Given the description of an element on the screen output the (x, y) to click on. 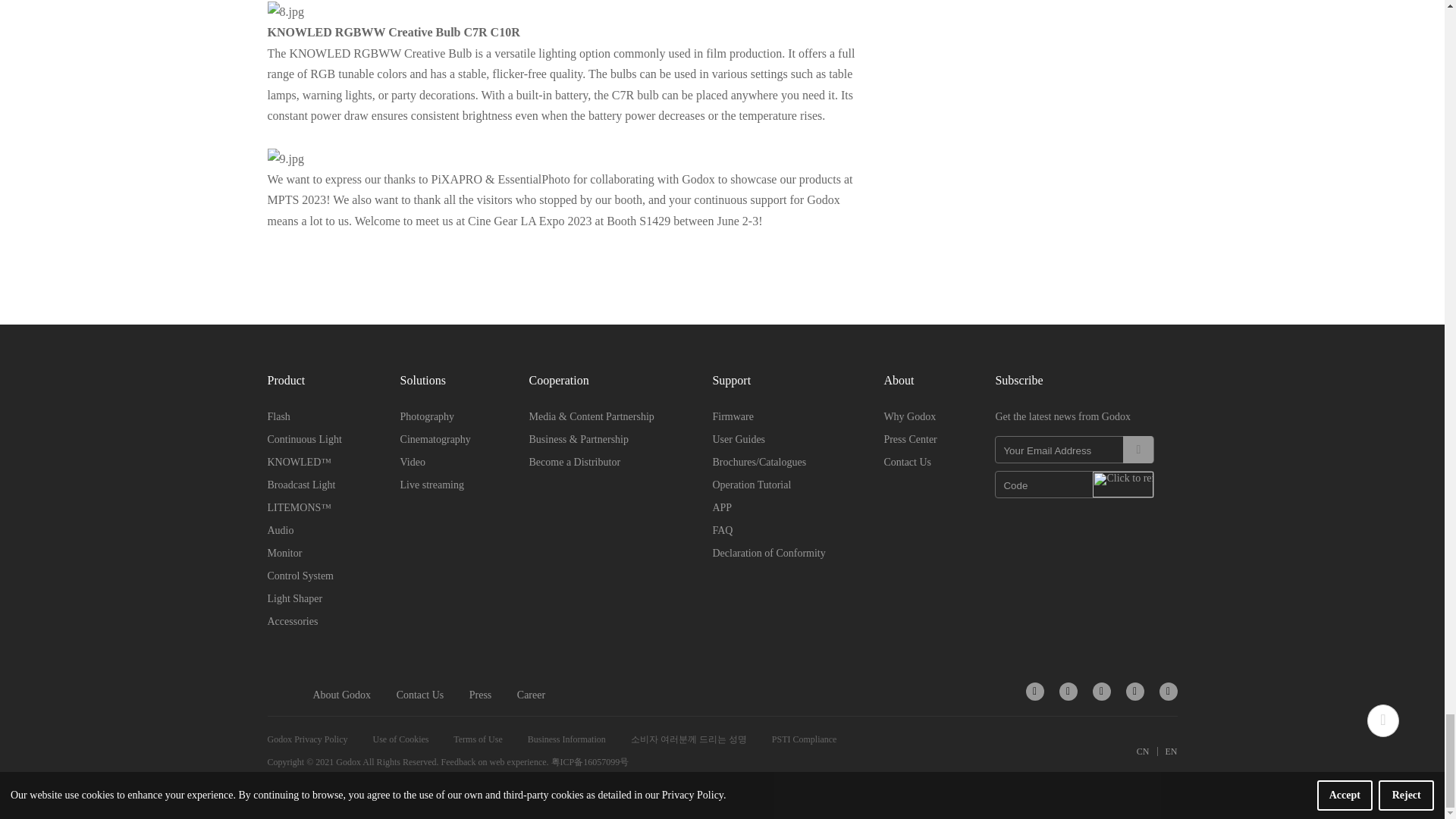
1693990013131830.jpg (284, 158)
Click to refresh (1123, 484)
1693990004198036.jpg (284, 11)
